Given the description of an element on the screen output the (x, y) to click on. 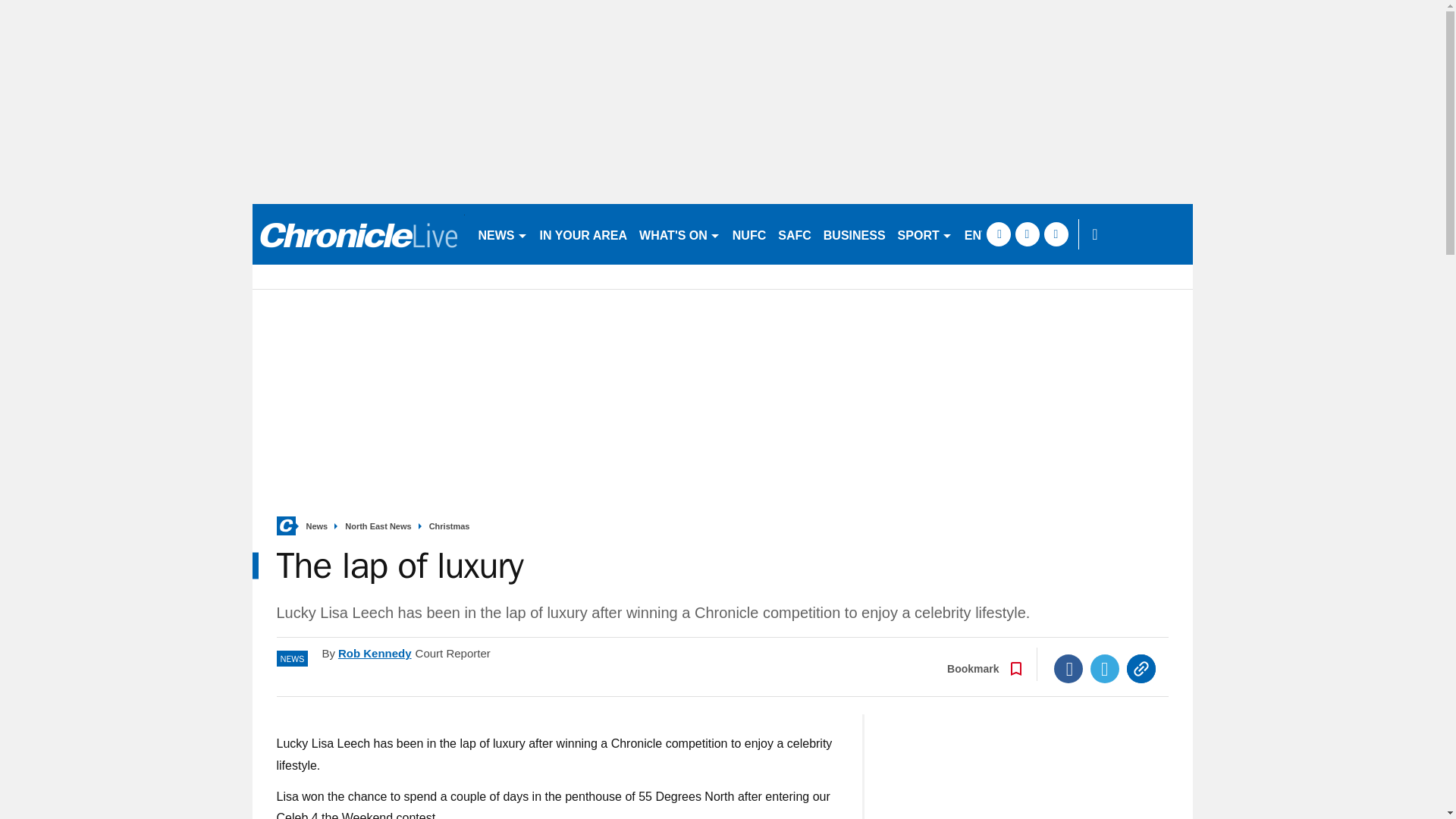
IN YOUR AREA (583, 233)
twitter (1026, 233)
instagram (1055, 233)
nechronicle (357, 233)
facebook (997, 233)
WHAT'S ON (679, 233)
Facebook (1068, 668)
SPORT (924, 233)
Twitter (1104, 668)
NEWS (501, 233)
